Given the description of an element on the screen output the (x, y) to click on. 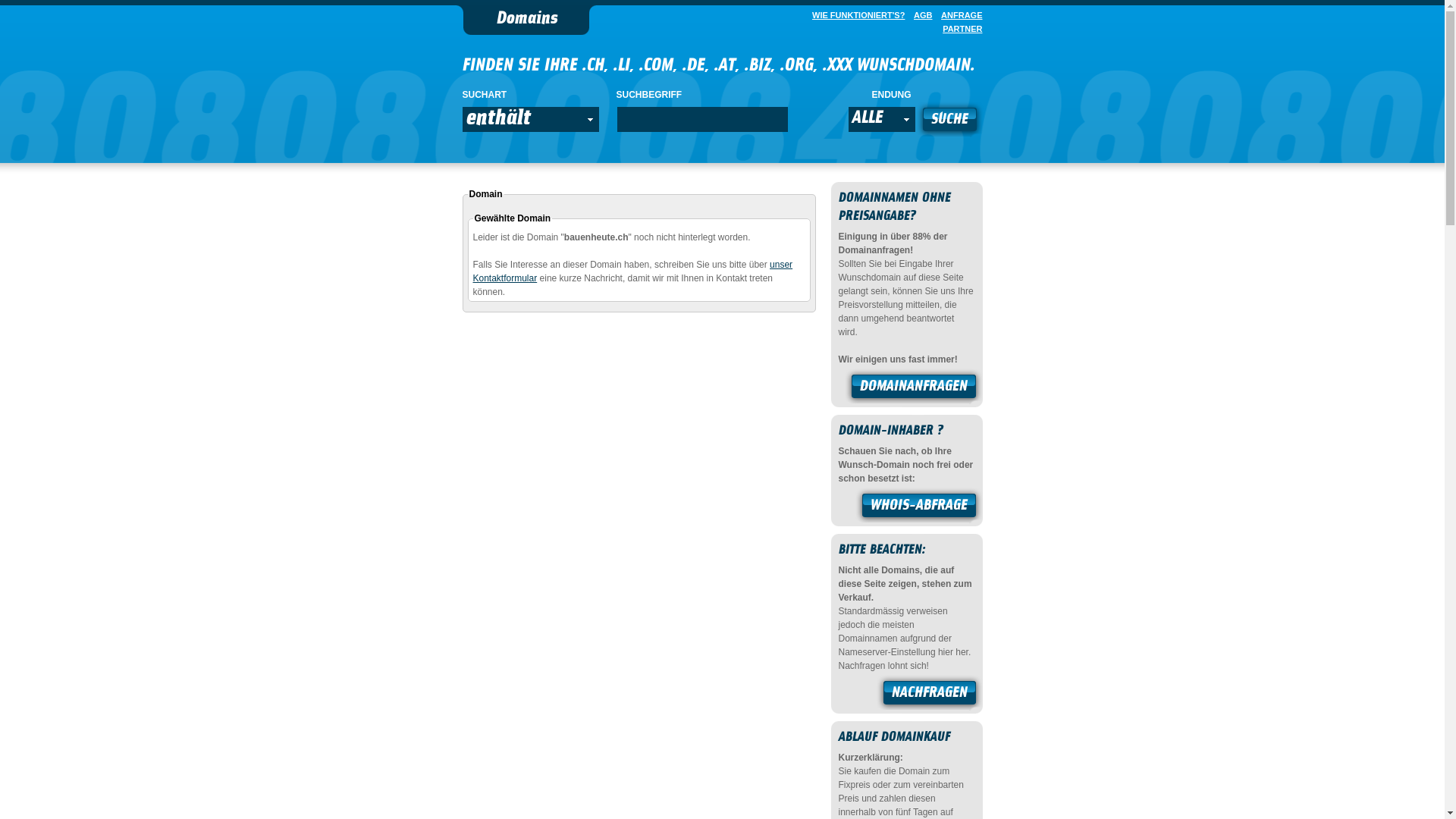
NACHFRAGEN Element type: text (929, 694)
WHOIS-ABFRAGE Element type: text (918, 507)
WIE FUNKTIONIERT'S? Element type: text (855, 14)
DOMAINANFRAGEN Element type: text (913, 387)
ANFRAGE Element type: text (958, 14)
AGB Element type: text (919, 14)
SUCHE Element type: text (949, 121)
Domains Element type: text (526, 19)
unser Kontaktformular Element type: text (633, 271)
PARTNER Element type: text (959, 28)
